Given the description of an element on the screen output the (x, y) to click on. 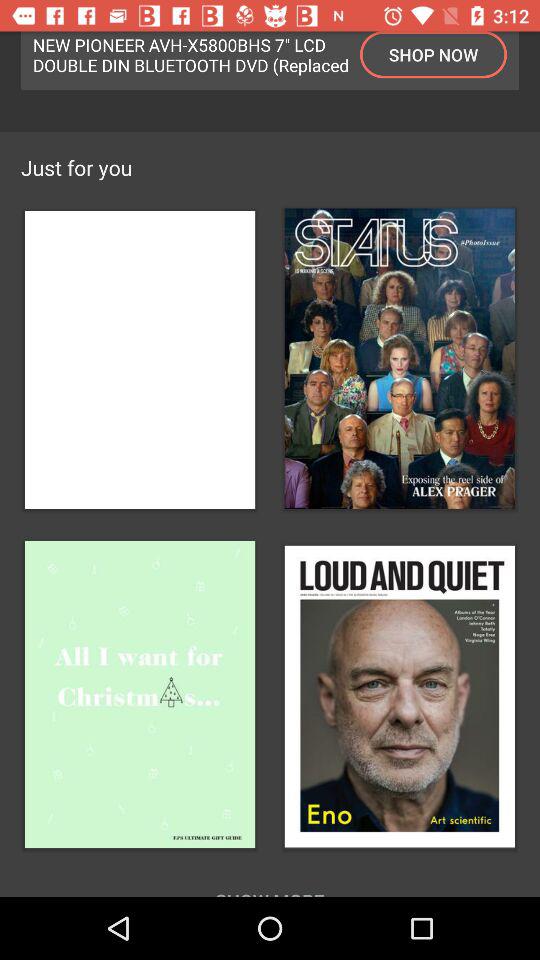
launch item above just for you item (433, 54)
